Given the description of an element on the screen output the (x, y) to click on. 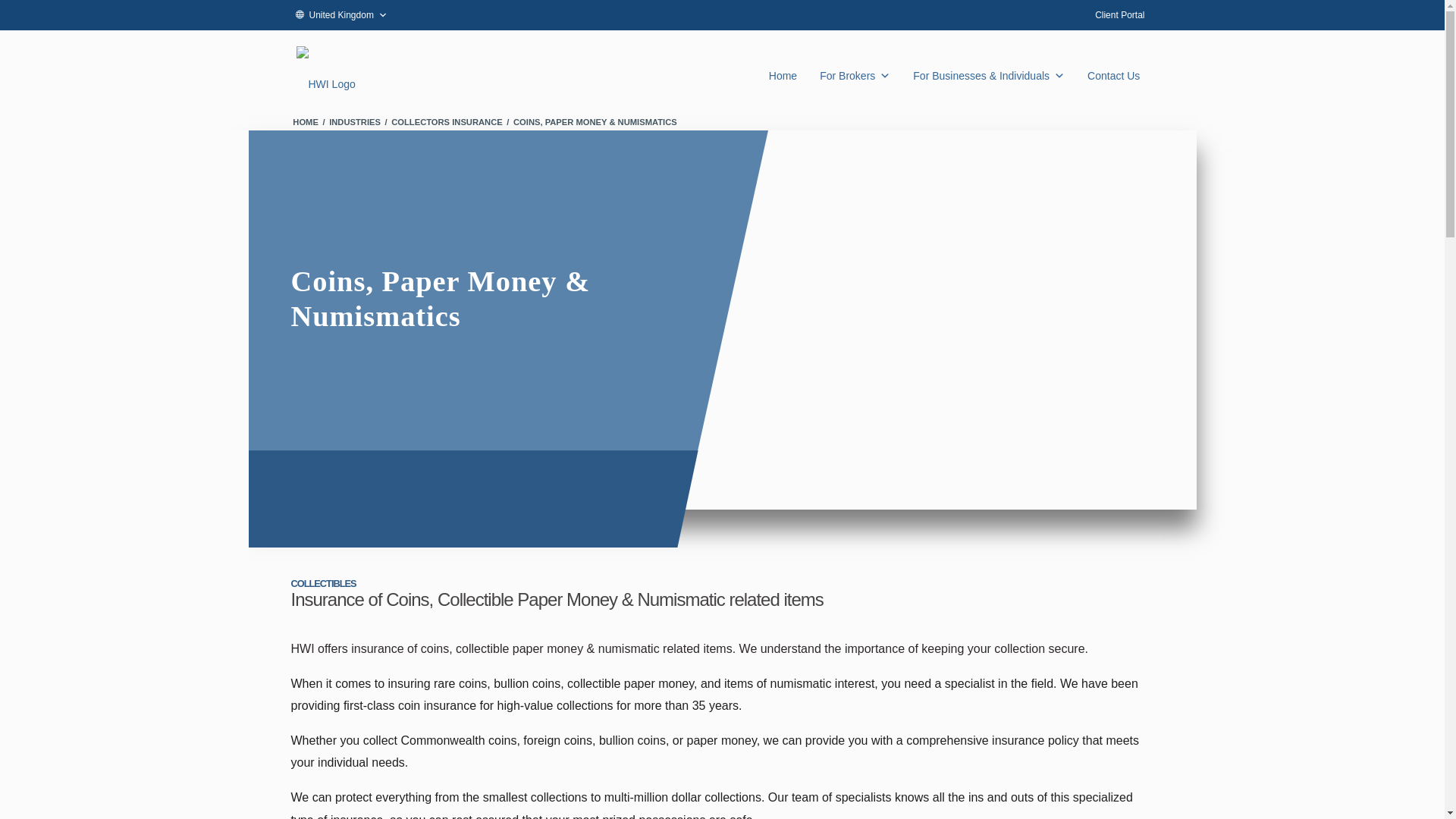
For Brokers (854, 68)
United Kingdom (342, 15)
Client Portal (1119, 15)
